Given the description of an element on the screen output the (x, y) to click on. 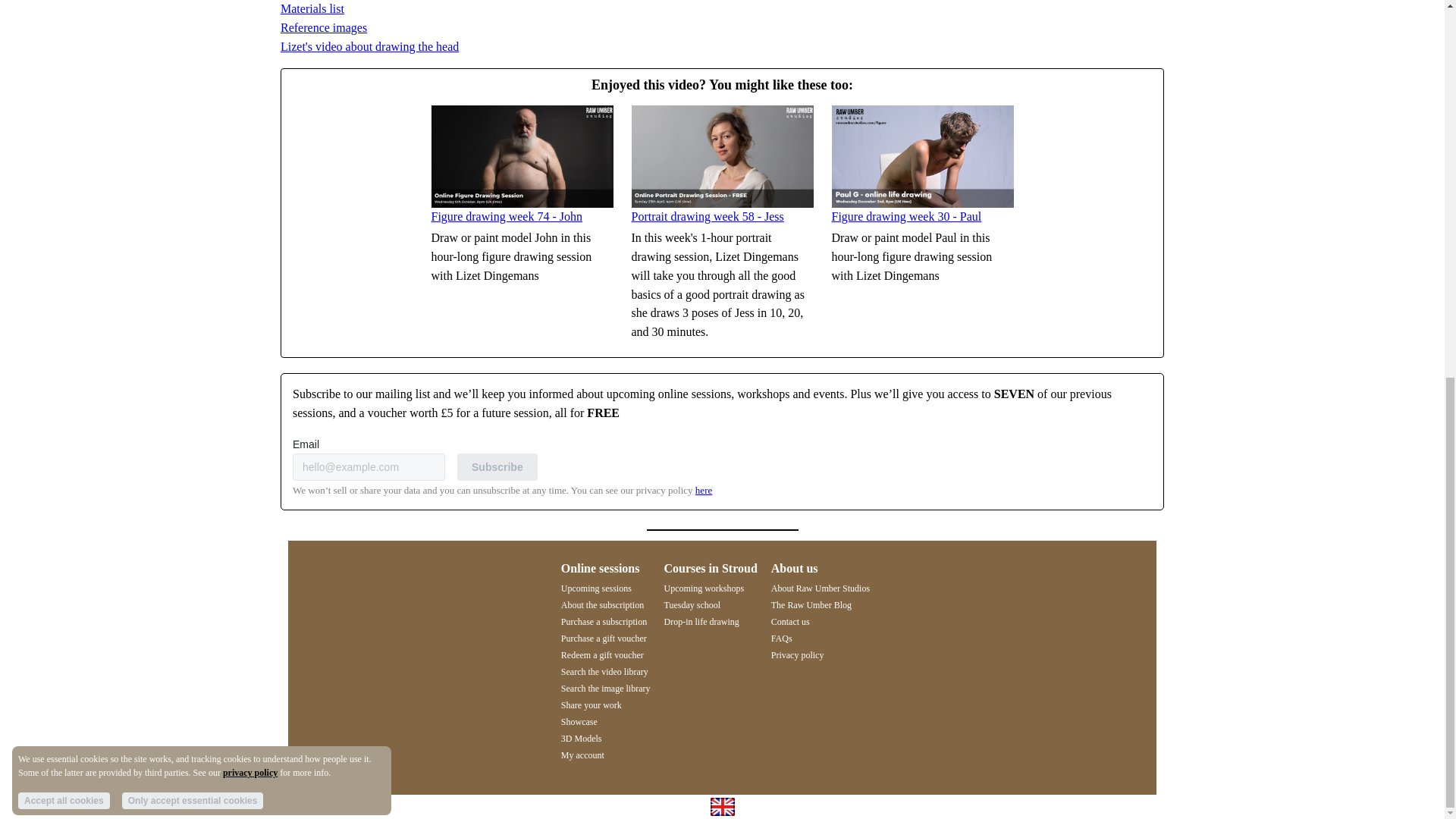
Figure drawing week 30 - Paul (906, 215)
Contact us (790, 621)
My account (582, 755)
About Raw Umber Studios (820, 588)
Search the video library (603, 671)
privacy policy (250, 74)
3D Models (581, 738)
Portrait drawing week 58 - Jess (706, 215)
Purchase a subscription (603, 621)
Privacy policy (797, 655)
Lizet's video about drawing the head (369, 46)
FAQs (781, 638)
Subscribe (497, 466)
Search the image library (605, 688)
Materials list (312, 8)
